Given the description of an element on the screen output the (x, y) to click on. 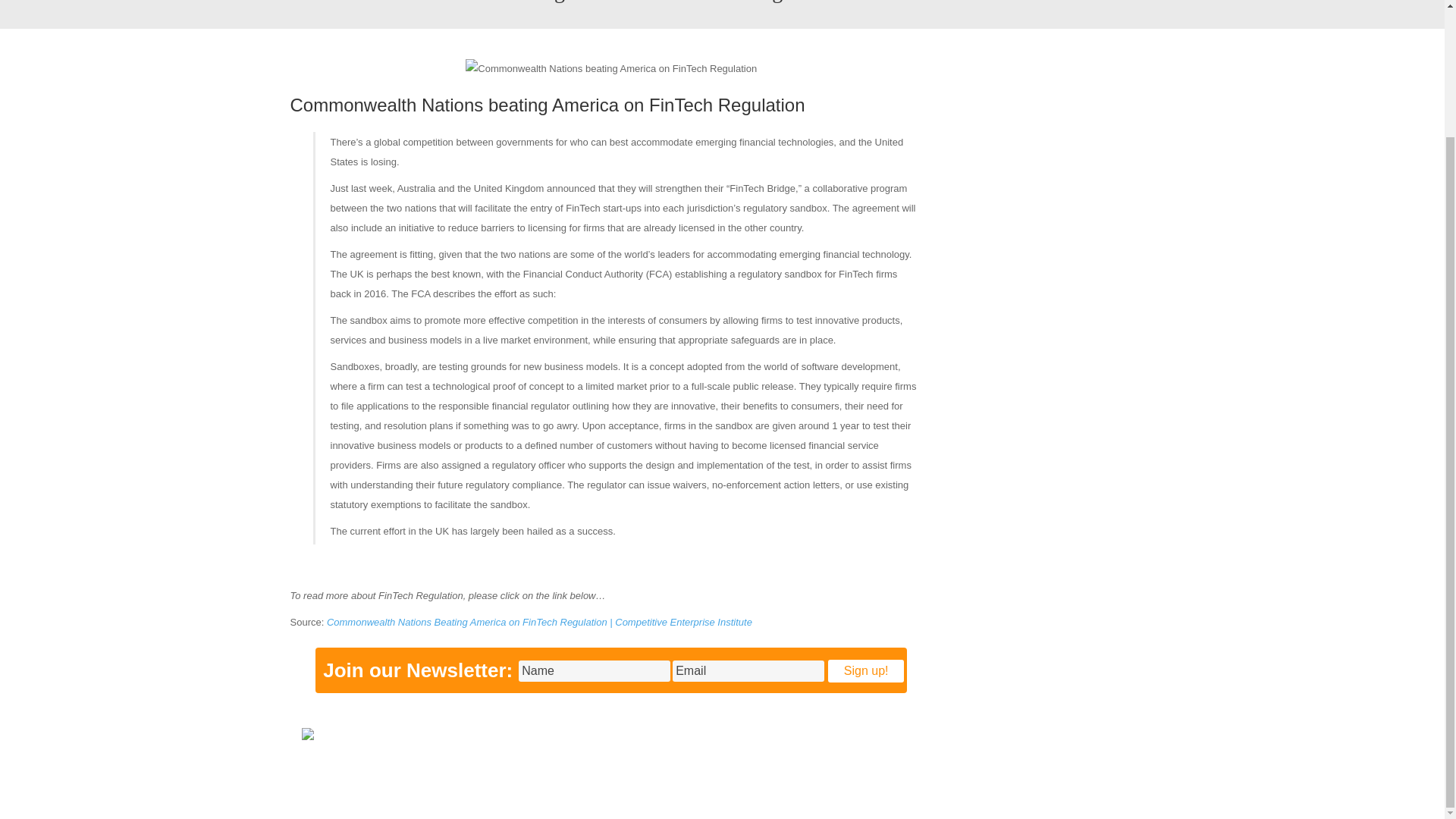
Sign up! (866, 671)
Sign up! (866, 671)
Commonwealth Nations beating America on FinTech Regulation (611, 68)
